Given the description of an element on the screen output the (x, y) to click on. 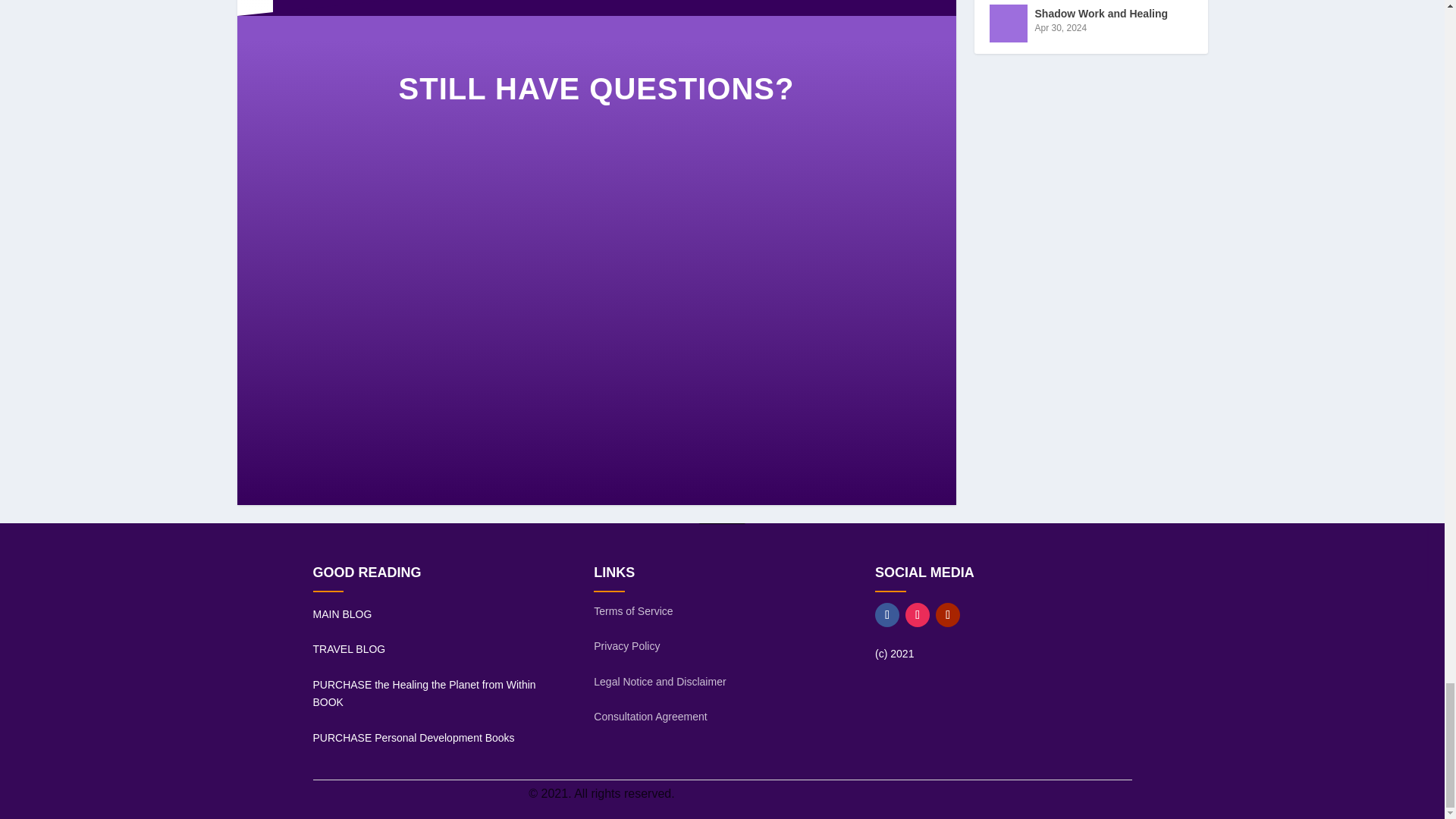
Follow on Instagram (917, 614)
Follow on Facebook (887, 614)
Shadow Work and Healing (1007, 23)
Follow on Youtube (947, 614)
